Given the description of an element on the screen output the (x, y) to click on. 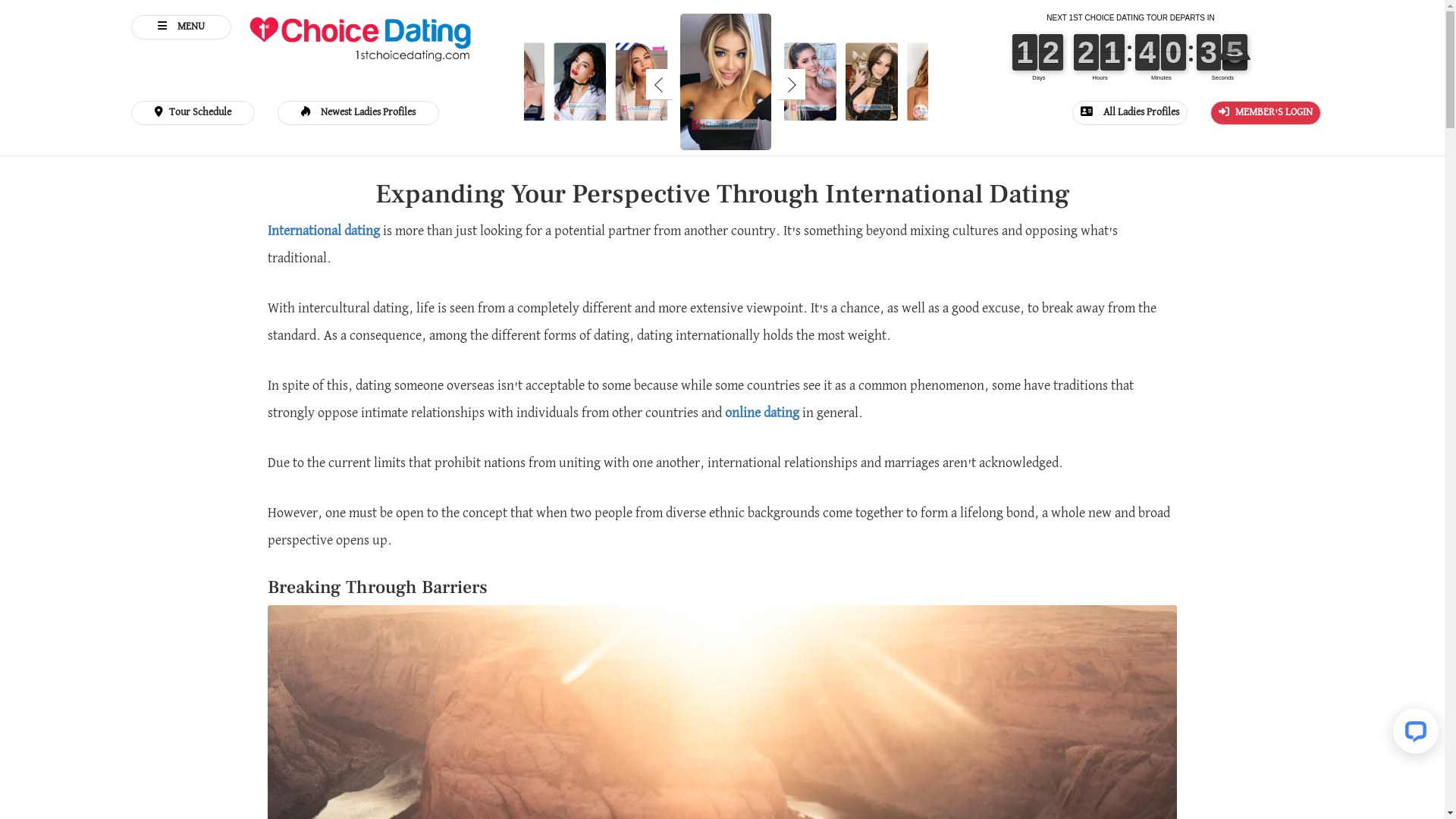
1st Choice Dating Profile - info148 Element type: hover (599, 110)
1st Choice Dating Profile - info142 Element type: hover (660, 110)
1st Choice Dating Profile - info105 Element type: hover (537, 110)
1st Choice Dating Profile - info149 Element type: hover (829, 110)
  Element type: text (1130, 45)
LiveChat chat widget Element type: hover (1412, 733)
1st Choice Dating Profile - info106 Element type: hover (952, 110)
  MENU Element type: text (180, 27)
1st Choice Dating Profile - info103 Element type: hover (891, 110)
MEMBER'S LOGIN Element type: text (1265, 112)
  All Ladies Profiles Element type: text (1129, 112)
online dating Element type: text (761, 413)
  Newest Ladies Profiles Element type: text (358, 112)
1st Choice Dating Profile - info110 Element type: hover (725, 81)
Tour Schedule Element type: text (192, 112)
International dating Element type: text (323, 231)
